Given the description of an element on the screen output the (x, y) to click on. 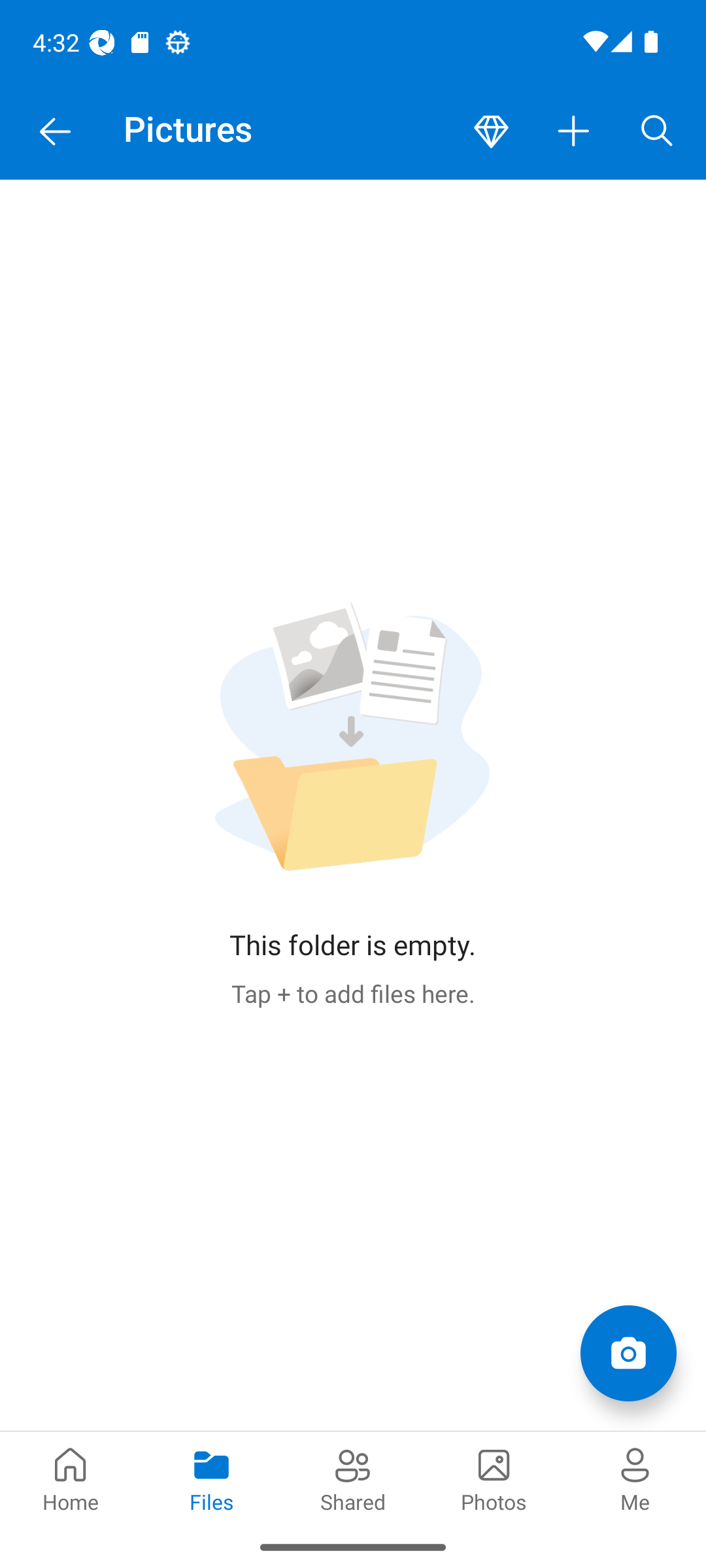
Navigate Up (55, 131)
Premium button (491, 131)
More actions button (574, 131)
Search button (656, 131)
Add items Scan (628, 1352)
Home pivot Home (70, 1478)
Shared pivot Shared (352, 1478)
Photos pivot Photos (493, 1478)
Me pivot Me (635, 1478)
